Given the description of an element on the screen output the (x, y) to click on. 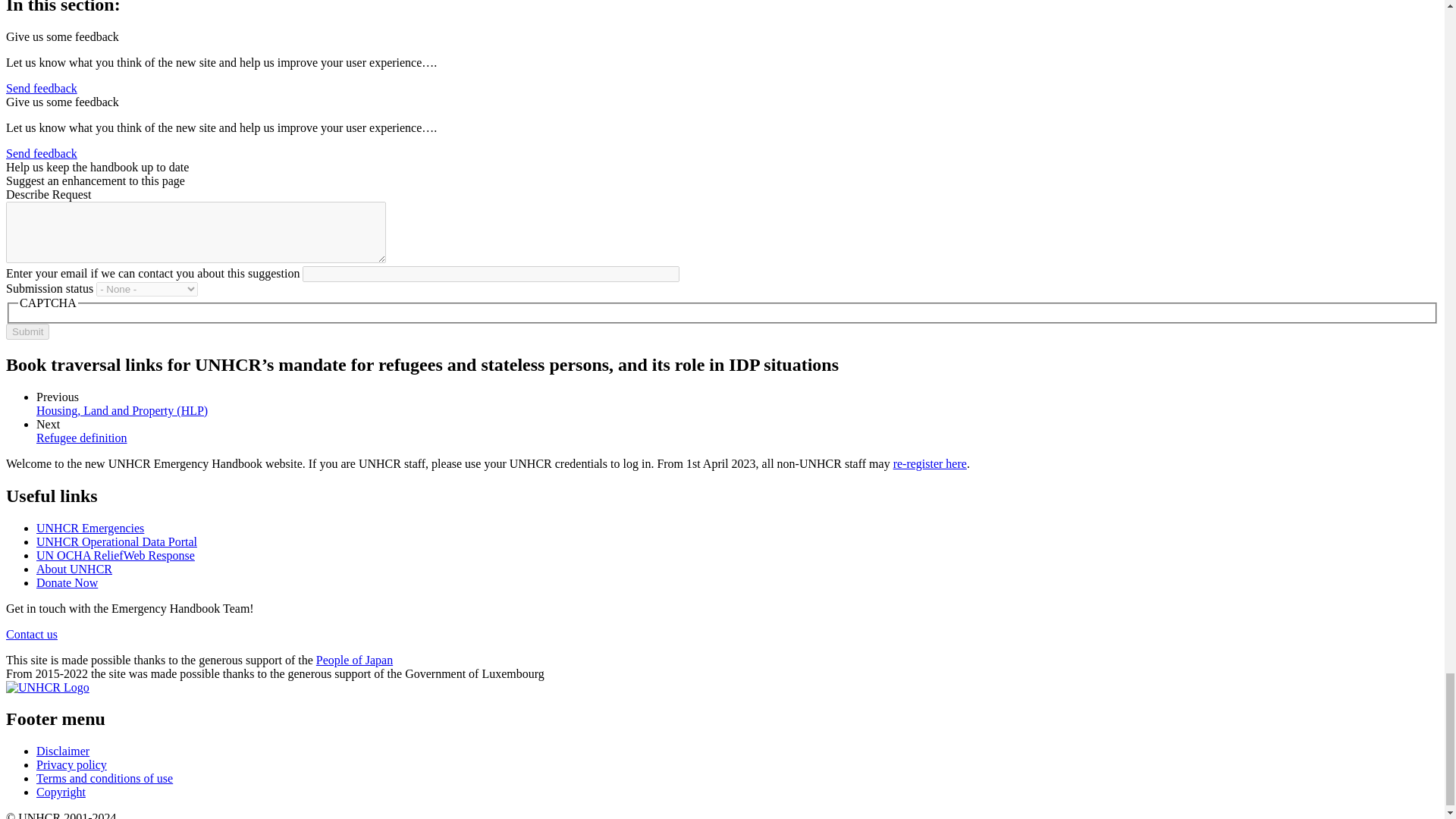
Go to next page (82, 437)
Contact us (31, 634)
Go to previous page (122, 410)
